Given the description of an element on the screen output the (x, y) to click on. 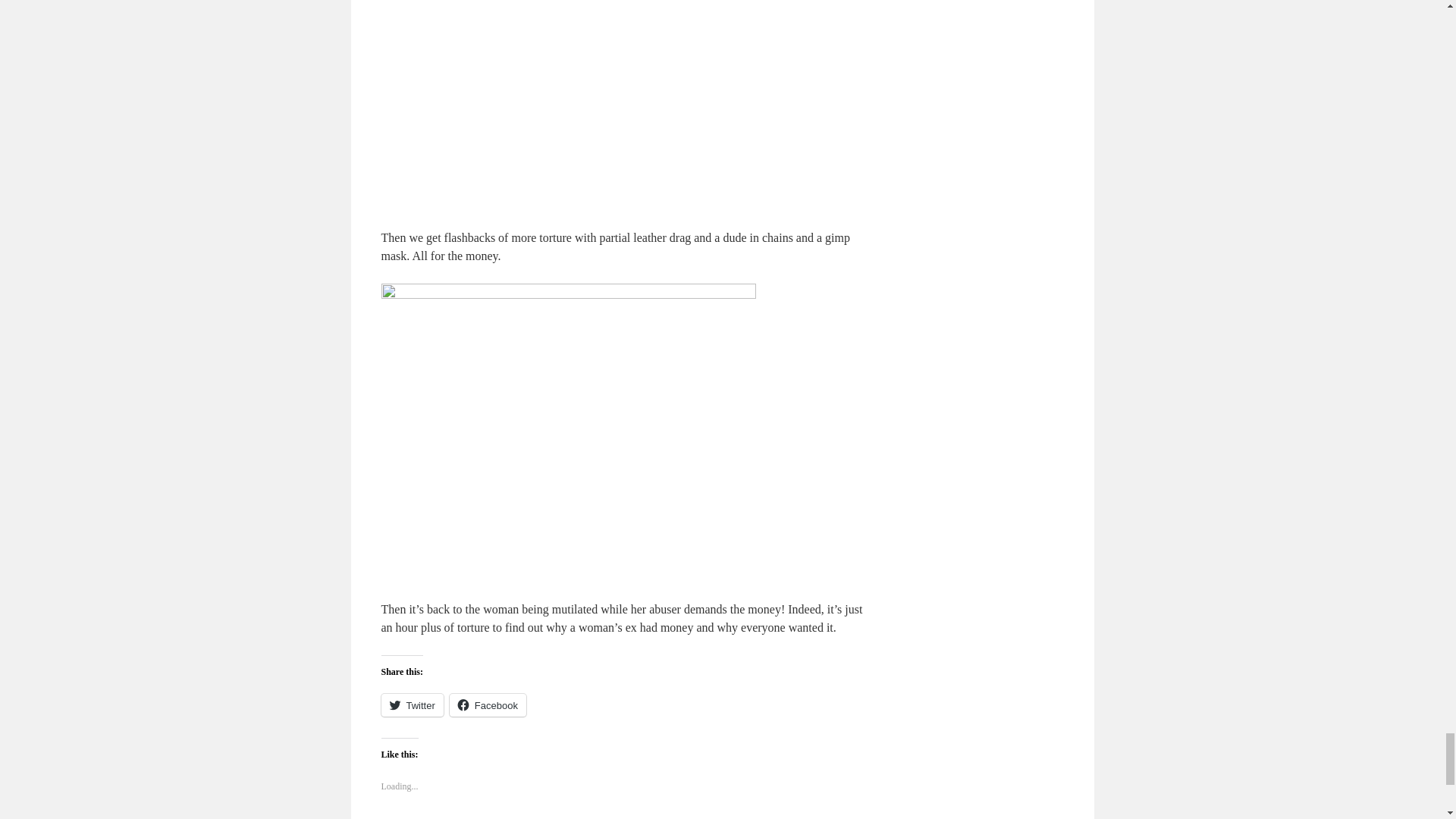
Click to share on Facebook (487, 704)
Twitter (411, 704)
Click to share on Twitter (411, 704)
